Given the description of an element on the screen output the (x, y) to click on. 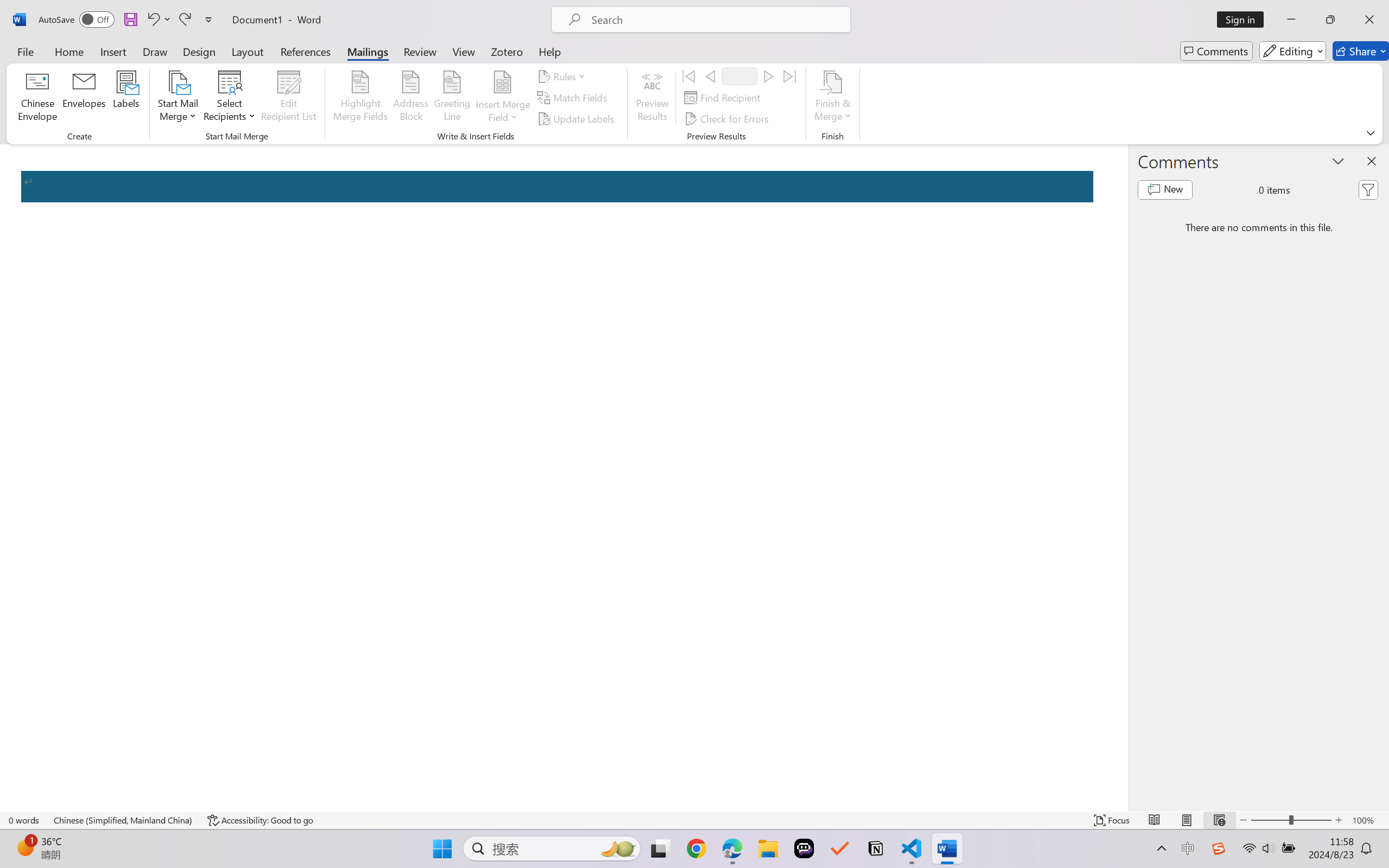
Undo Apply Quick Style Set (158, 19)
Check for Errors... (728, 118)
Sign in (1244, 19)
Labels... (126, 97)
